Given the description of an element on the screen output the (x, y) to click on. 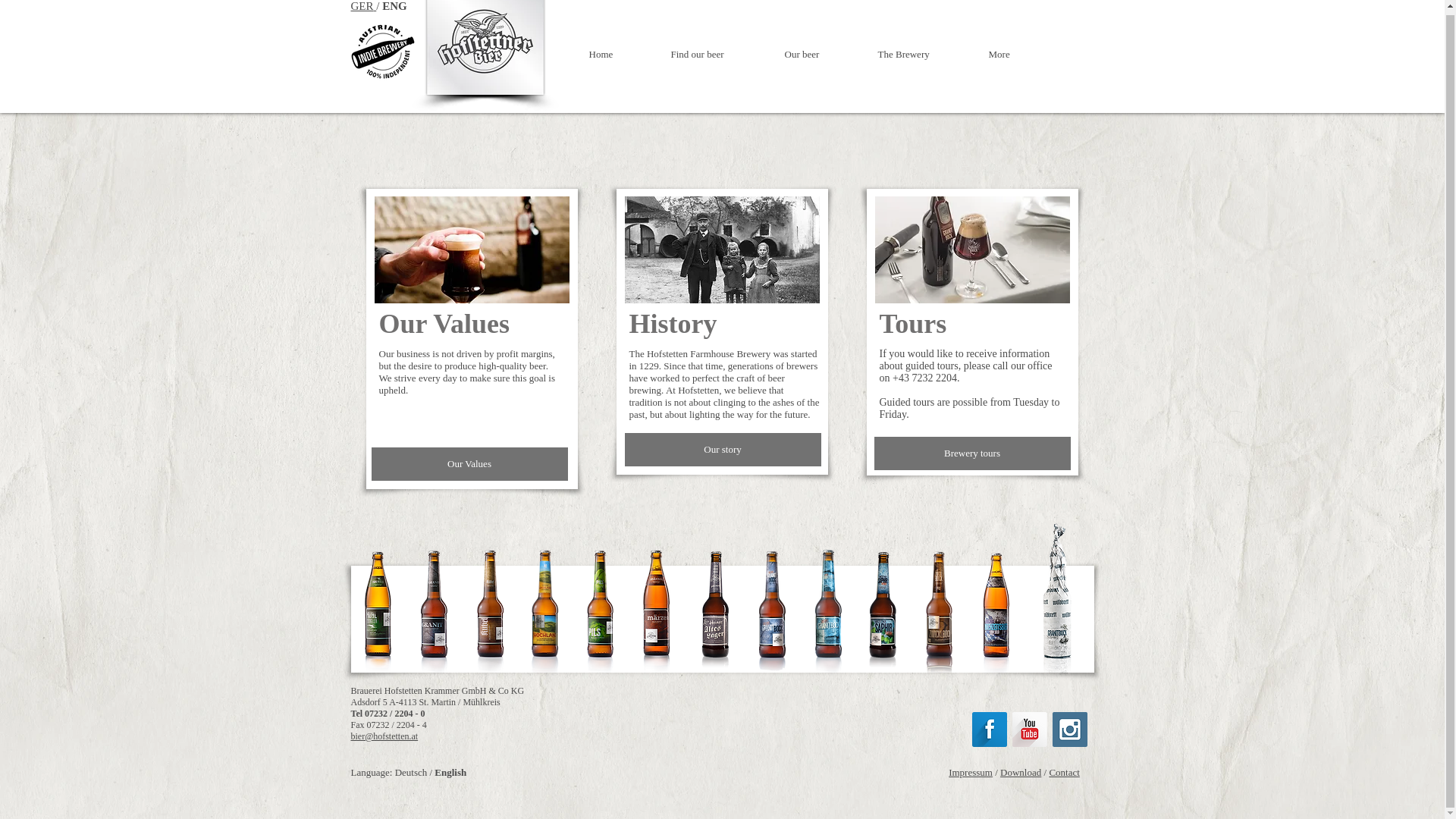
Logo Hofstetten (484, 47)
Granitbock Gedeck (972, 249)
GER (361, 6)
Find our beer (716, 53)
Our story (722, 449)
The Brewery (921, 53)
Granitbock (471, 249)
Home (618, 53)
More (1015, 53)
Our Values (469, 463)
Caspar Krammer (721, 249)
Our beer (819, 53)
